Given the description of an element on the screen output the (x, y) to click on. 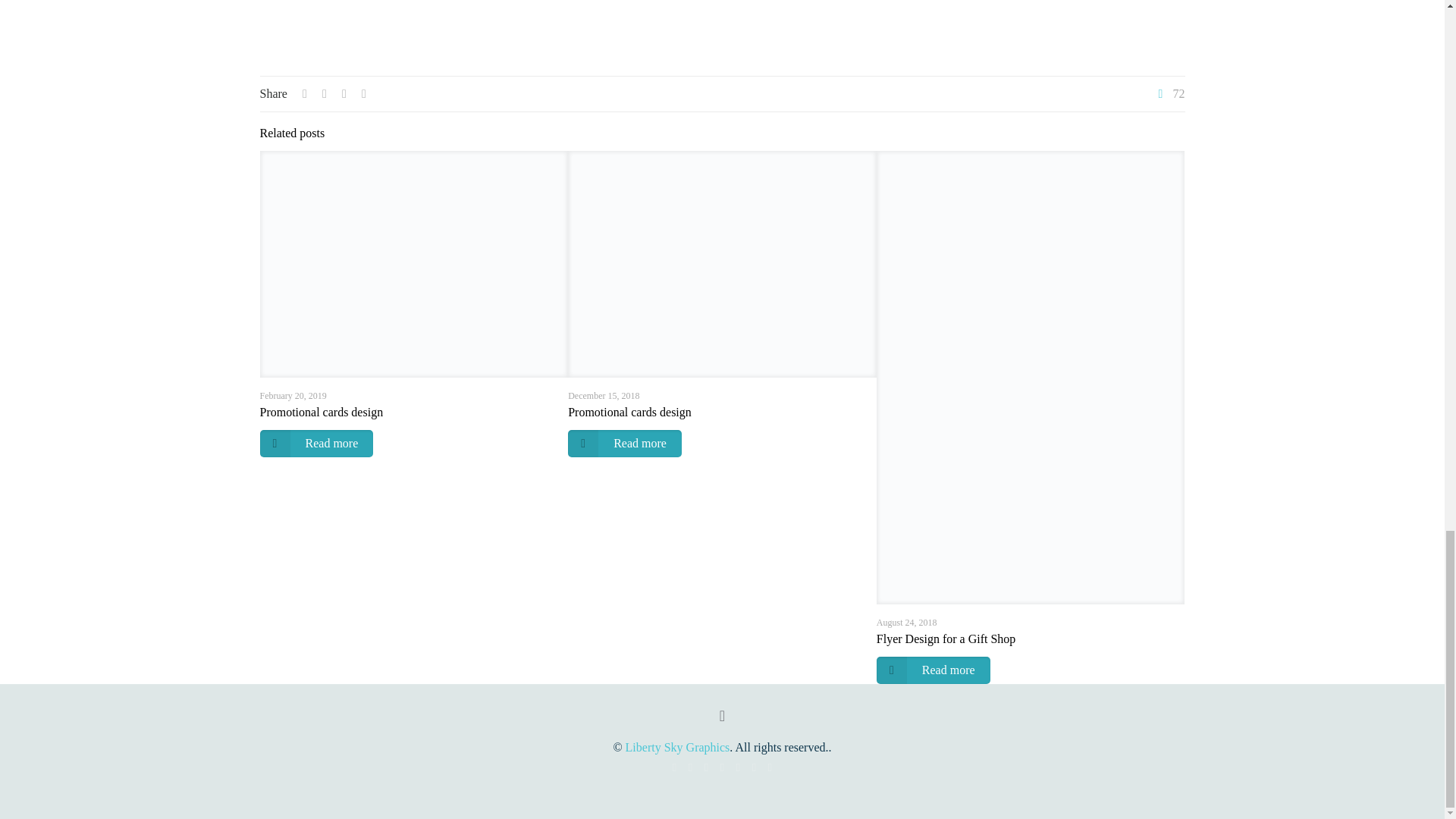
72 (1169, 93)
Facebook (705, 767)
WhatsApp (689, 767)
GitHub (770, 767)
Promotional cards design (320, 411)
Read more (315, 443)
Instagram (738, 767)
Behance (754, 767)
Dribbble (722, 767)
Skype (673, 767)
